Given the description of an element on the screen output the (x, y) to click on. 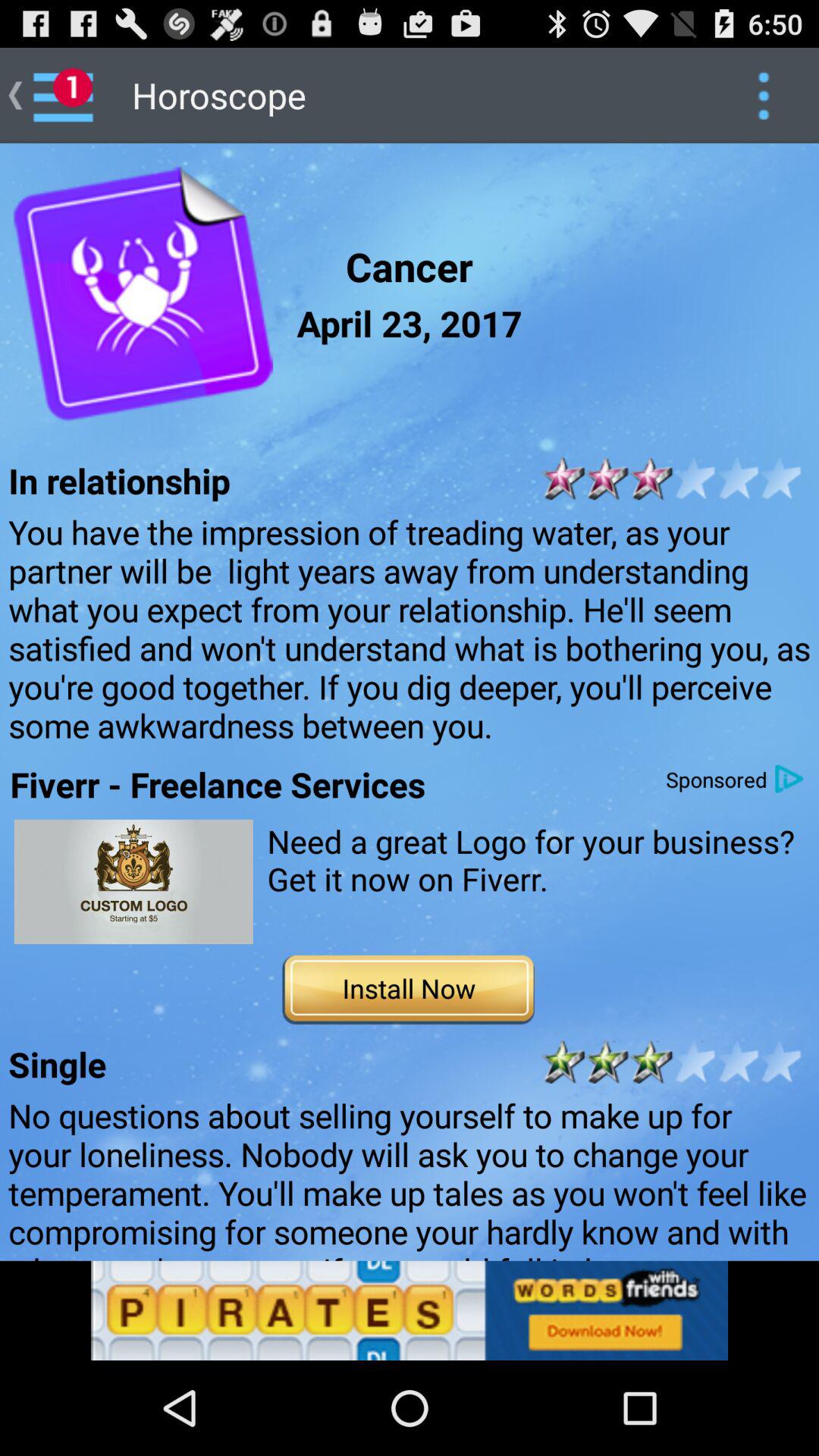
see advertisement (133, 881)
